Given the description of an element on the screen output the (x, y) to click on. 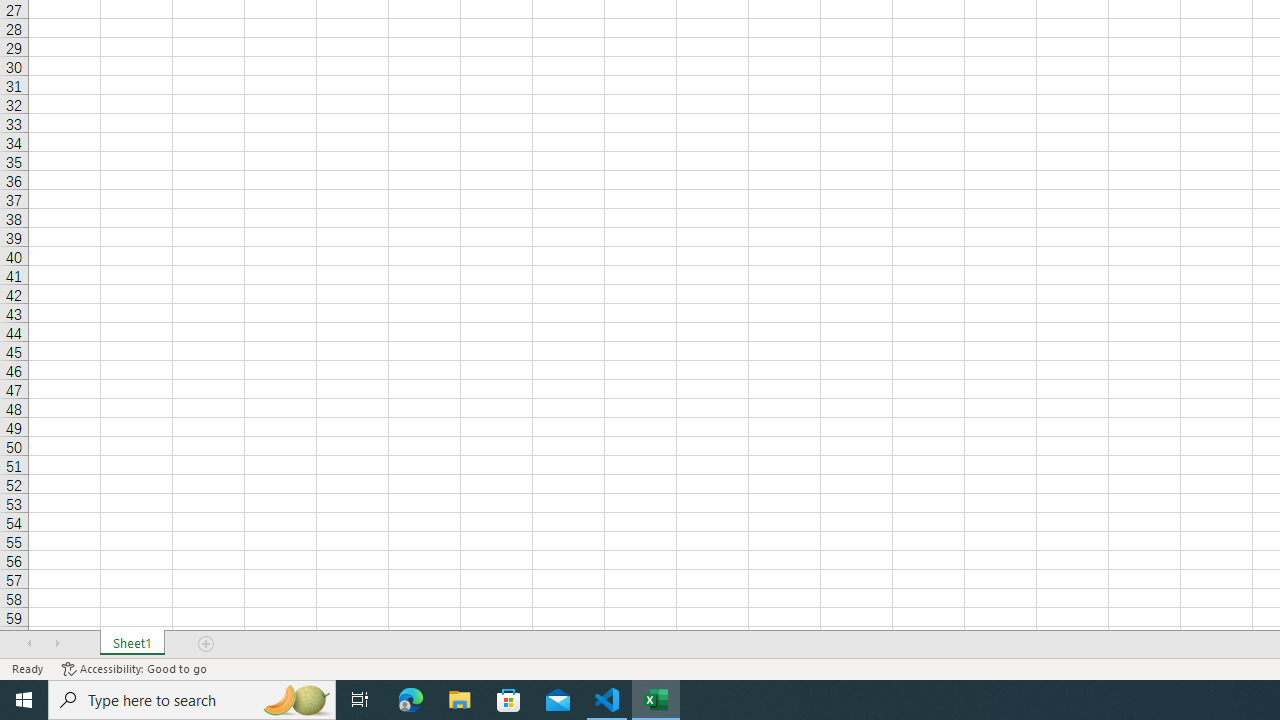
Scroll Left (29, 644)
Sheet1 (132, 644)
Add Sheet (207, 644)
Accessibility Checker Accessibility: Good to go (134, 668)
Scroll Right (57, 644)
